Given the description of an element on the screen output the (x, y) to click on. 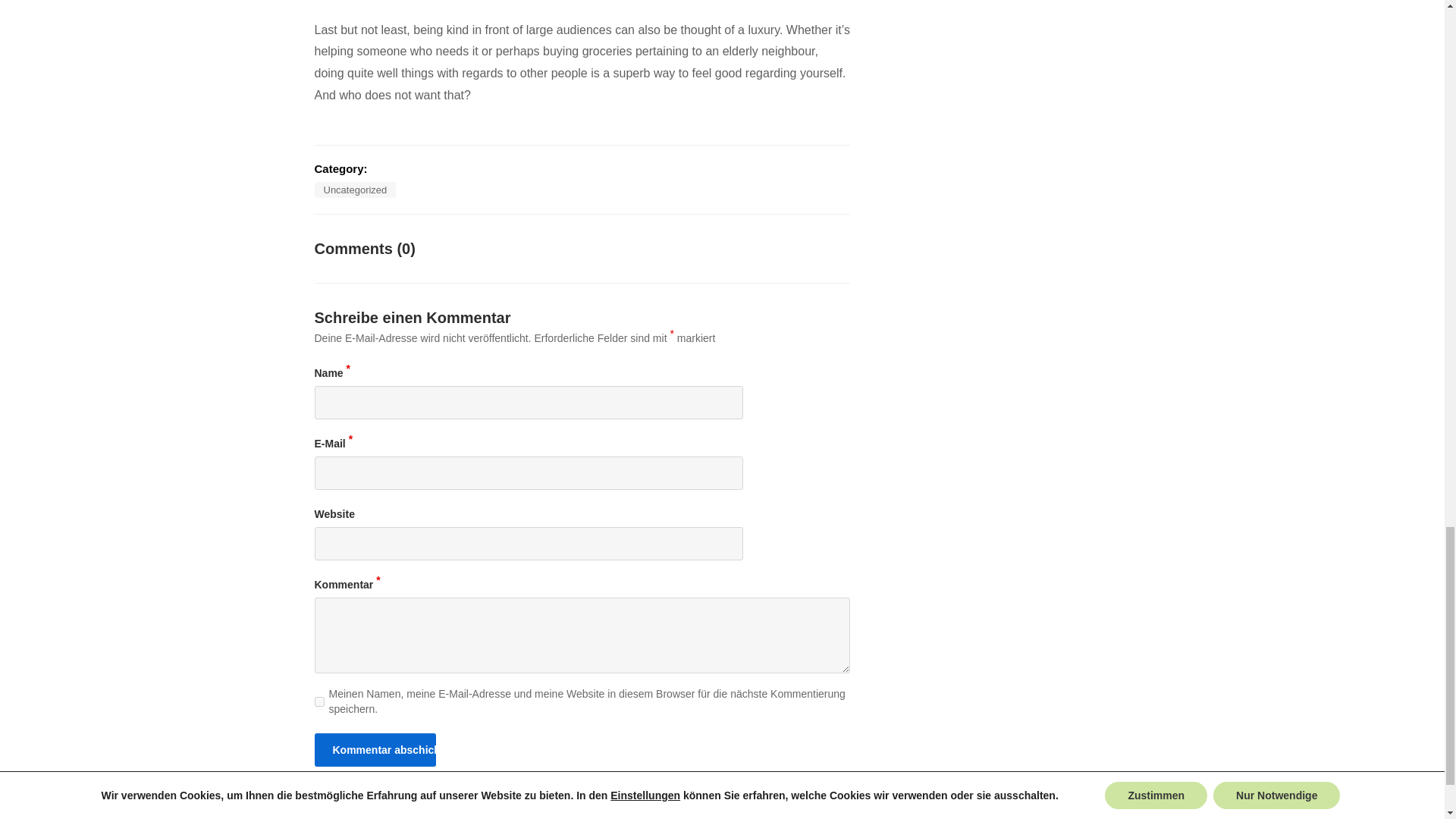
Uncategorized (355, 189)
Kommentar abschicken (374, 749)
yes (318, 701)
Kommentar abschicken (374, 749)
